Given the description of an element on the screen output the (x, y) to click on. 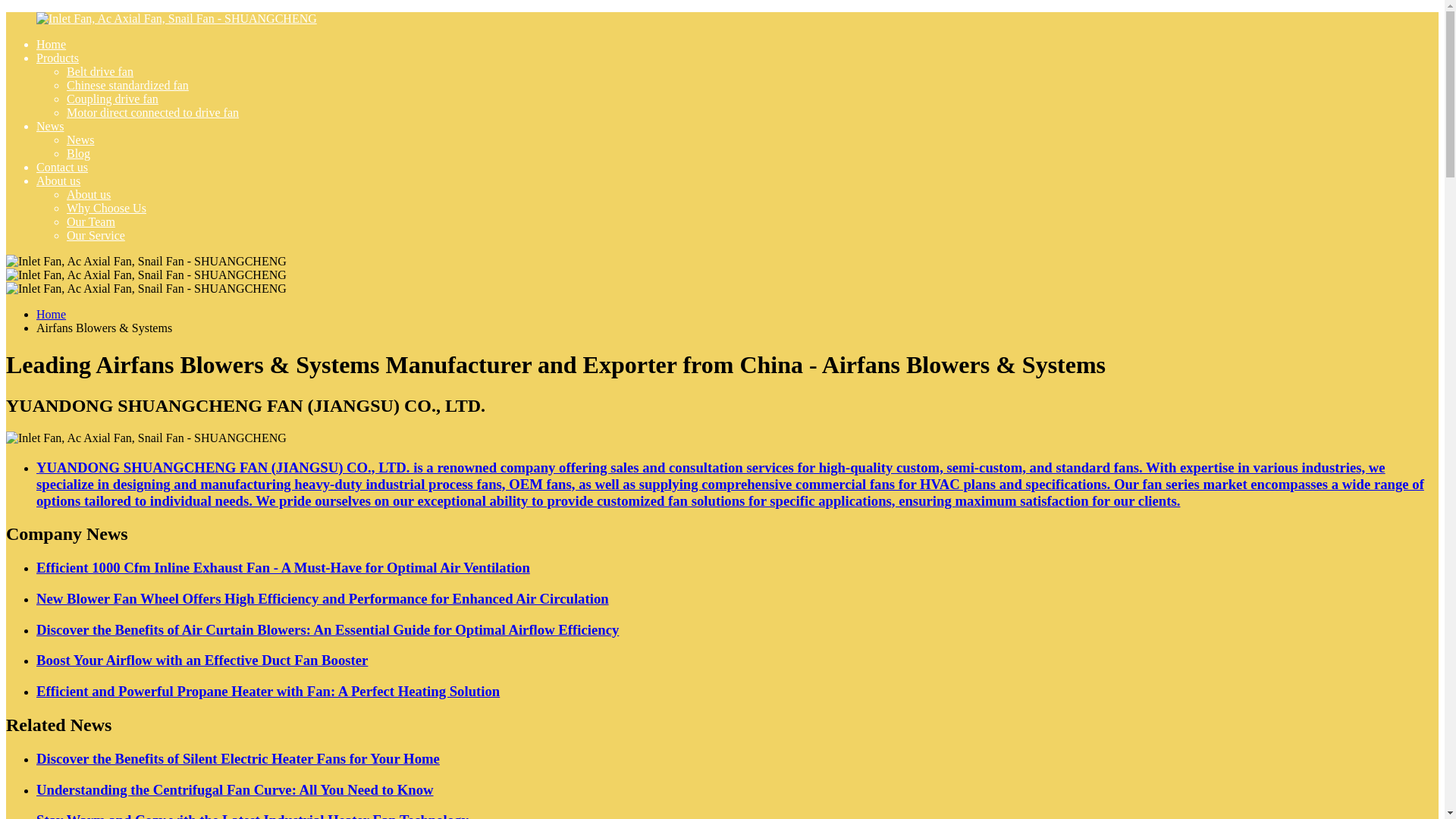
Home (50, 314)
Coupling drive fan (112, 98)
Products (57, 57)
About us (58, 180)
Chinese standardized fan (127, 84)
Motor direct connected to drive fan (152, 112)
Our Service (95, 235)
Home (50, 43)
Contact us (61, 166)
Why Choose Us (106, 207)
